Given the description of an element on the screen output the (x, y) to click on. 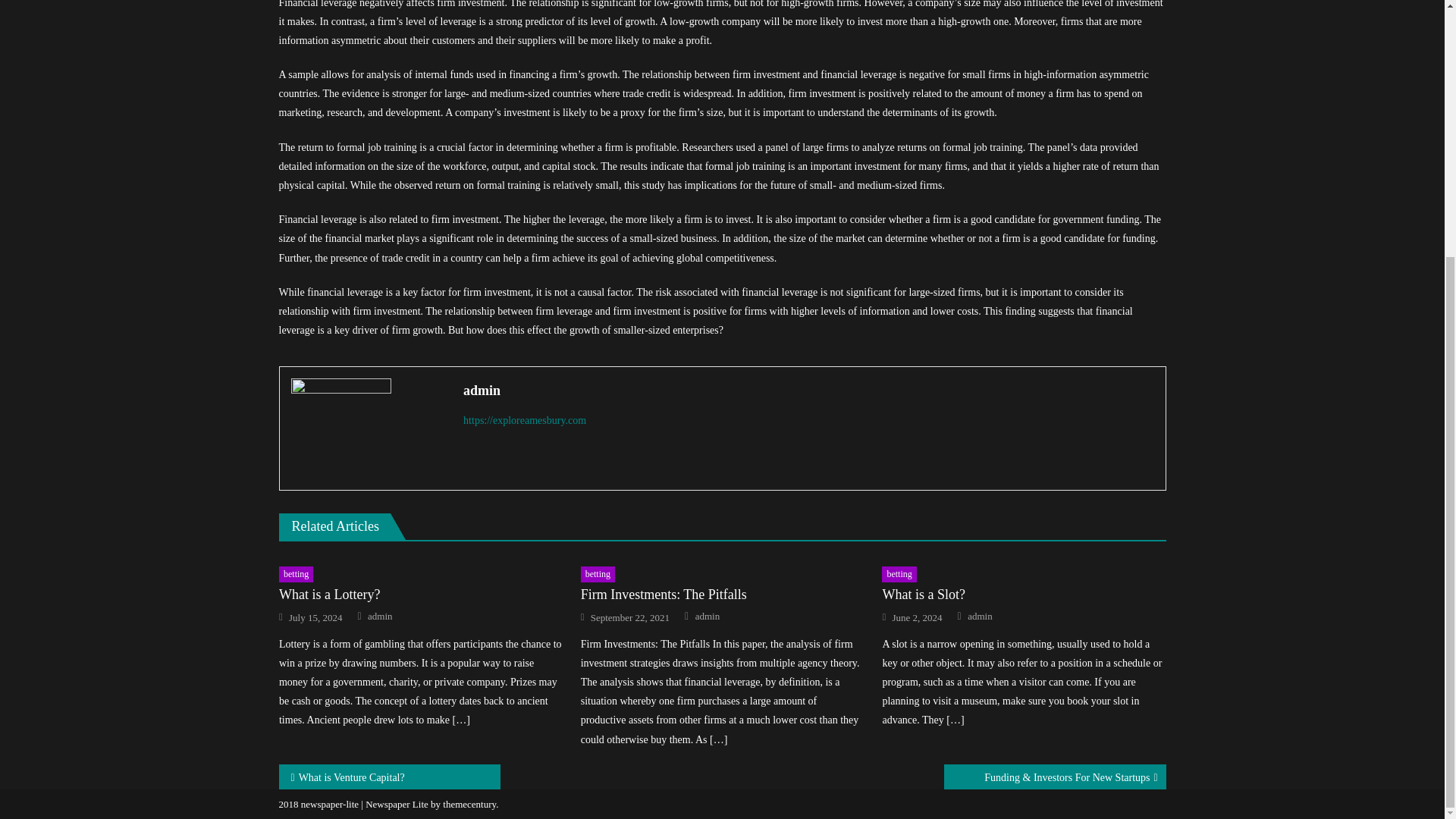
What is a Slot? (1024, 594)
September 22, 2021 (630, 617)
July 15, 2024 (315, 617)
betting (898, 574)
admin (380, 615)
What is a Lottery? (420, 594)
themecentury (469, 803)
What is Venture Capital? (389, 776)
Firm Investments: The Pitfalls (722, 594)
admin (808, 390)
admin (707, 615)
admin (980, 615)
betting (597, 574)
betting (296, 574)
June 2, 2024 (916, 617)
